Given the description of an element on the screen output the (x, y) to click on. 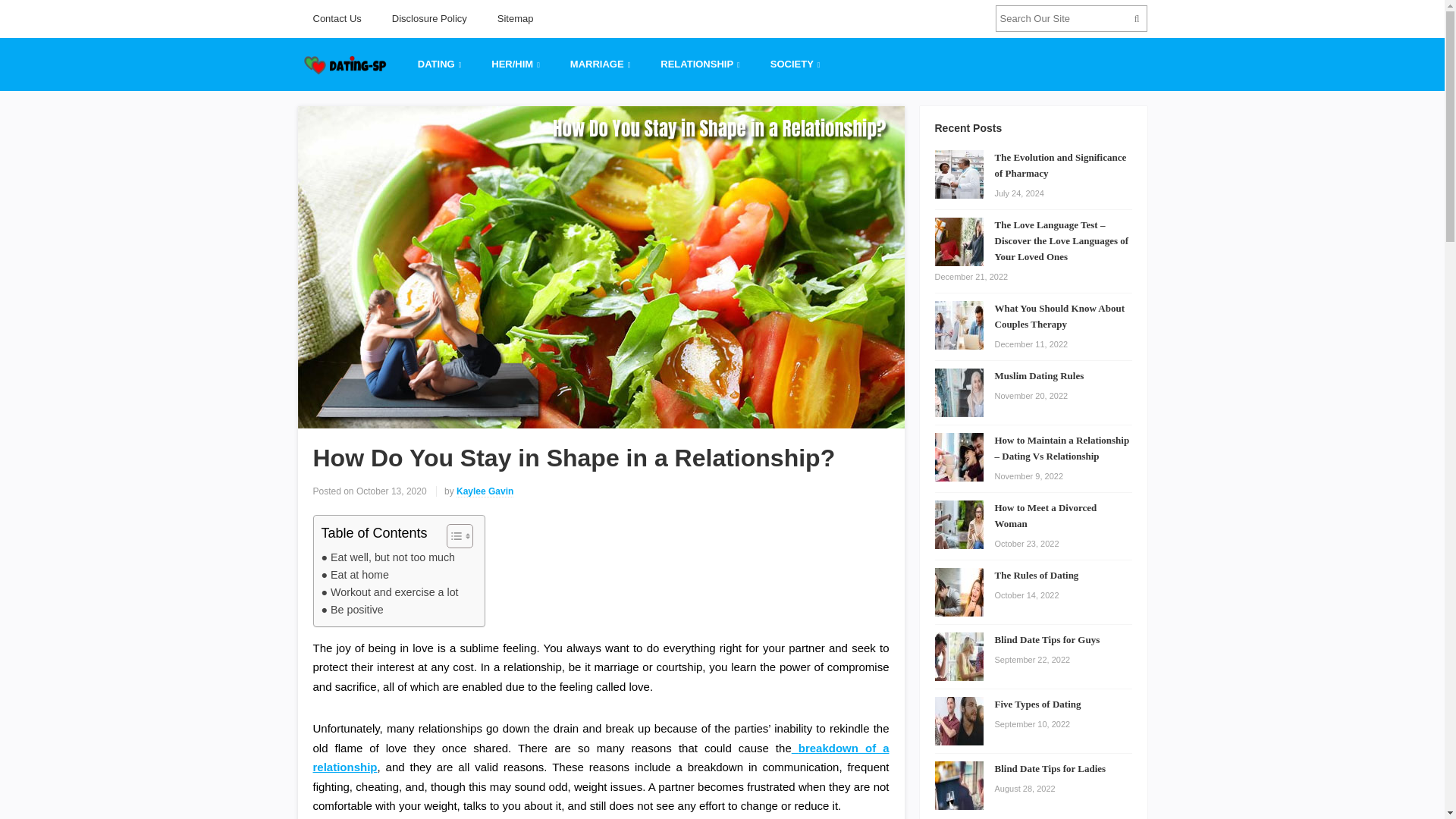
Contact Us (336, 18)
Sitemap (514, 18)
Disclosure Policy (429, 18)
